Given the description of an element on the screen output the (x, y) to click on. 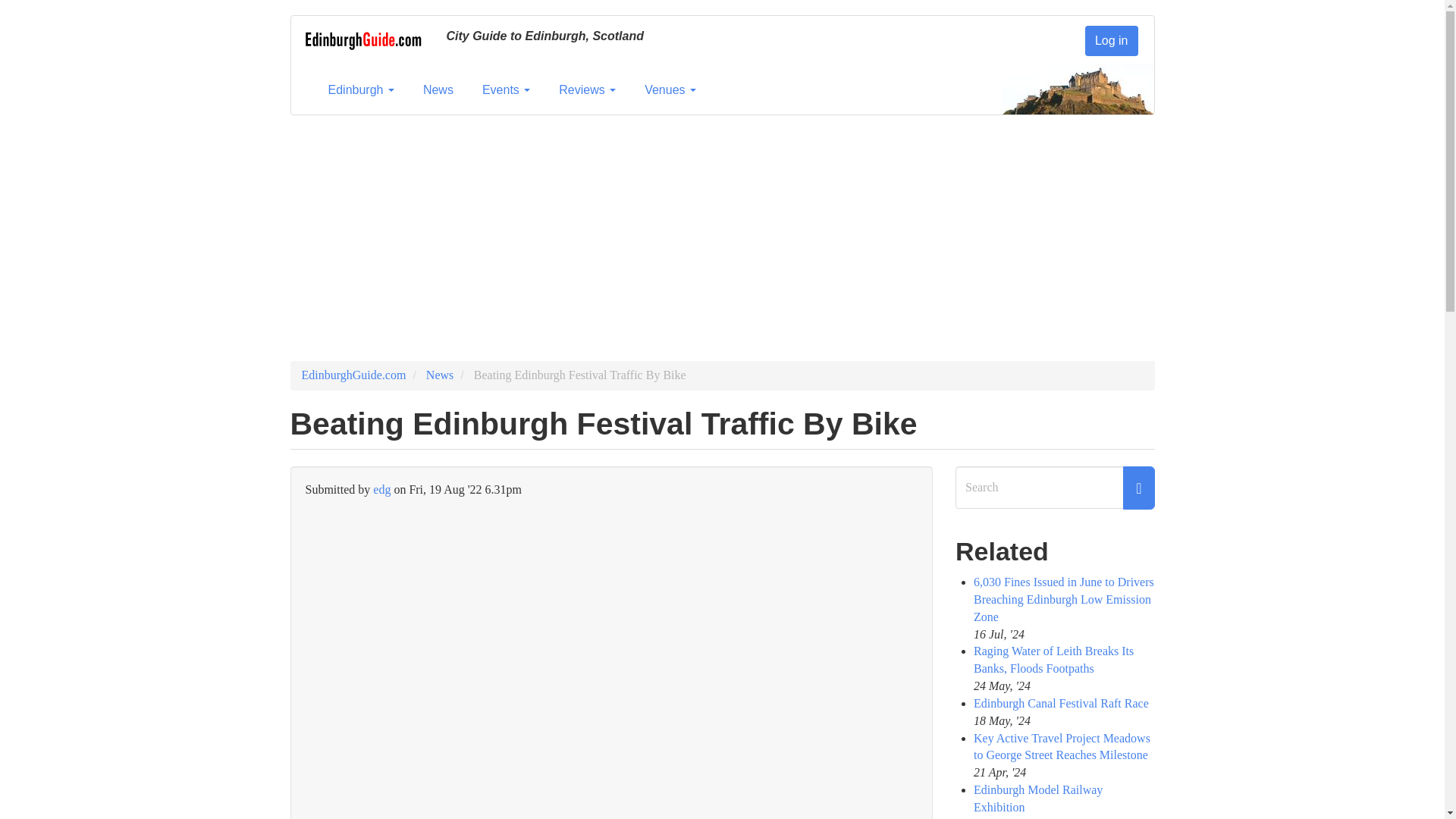
View user profile. (381, 489)
Edinburgh (361, 89)
Venues (670, 89)
Reviews (587, 89)
Log in (1111, 40)
News (438, 89)
Home (362, 43)
Events (505, 89)
